Given the description of an element on the screen output the (x, y) to click on. 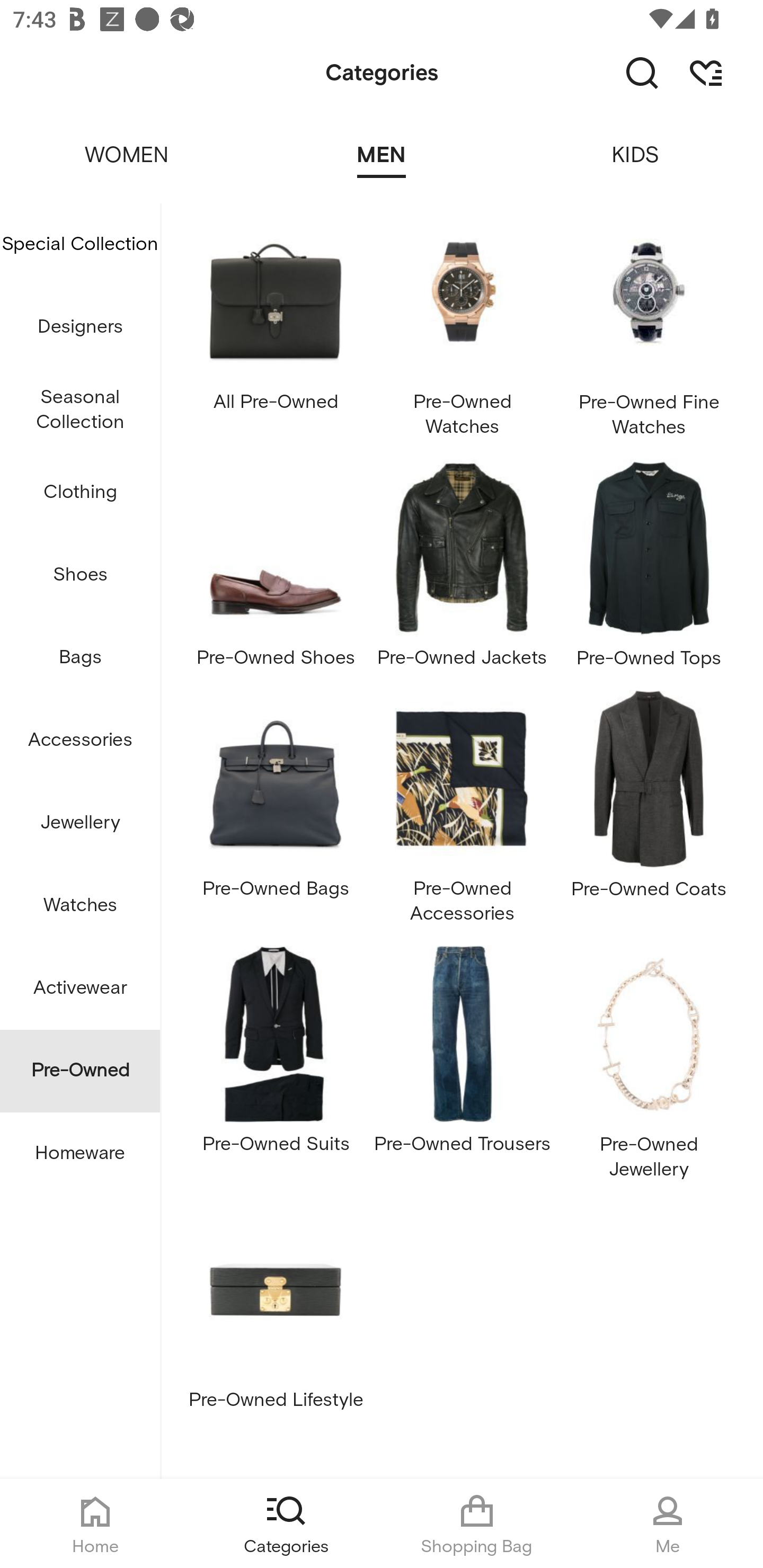
WOMEN (127, 143)
KIDS (635, 143)
Special Collection (80, 244)
All Pre-Owned (274, 326)
Pre-Owned Watches (461, 326)
Pre-Owned Fine Watches (648, 326)
Designers (80, 326)
Seasonal Collection (80, 409)
Clothing (80, 492)
Pre-Owned Shoes (274, 569)
Pre-Owned Jackets (461, 569)
Pre-Owned Tops (648, 569)
Shoes (80, 575)
Bags (80, 657)
Pre-Owned Bags (274, 812)
Pre-Owned Accessories (461, 812)
Pre-Owned Coats (648, 812)
Accessories (80, 740)
Jewellery (80, 822)
Watches (80, 905)
Pre-Owned Suits (274, 1068)
Pre-Owned Trousers (461, 1068)
Pre-Owned Jewellery (648, 1068)
Activewear (80, 988)
Pre-Owned (80, 1070)
Homeware (80, 1152)
Pre-Owned Lifestyle (274, 1311)
Home (95, 1523)
Shopping Bag (476, 1523)
Me (667, 1523)
